Given the description of an element on the screen output the (x, y) to click on. 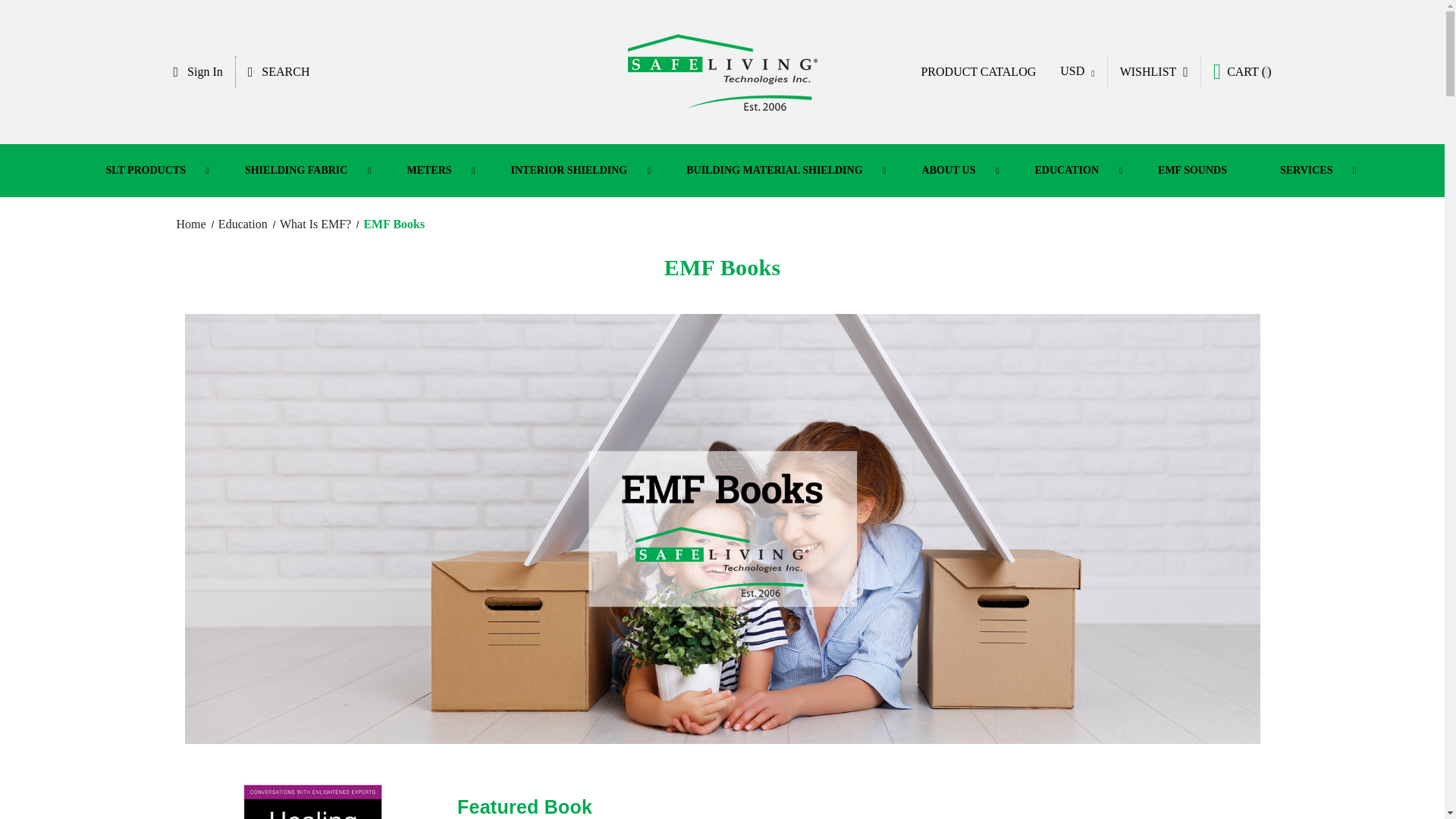
WISHLIST (1153, 71)
SLT PRODUCTS (147, 170)
CART (1242, 72)
Safe Living Technologies Inc. (721, 71)
SHIELDING FABRIC (299, 170)
PRODUCT CATALOG (978, 71)
Sign In (197, 71)
USD (1077, 71)
SEARCH (278, 71)
METERS (431, 170)
